Given the description of an element on the screen output the (x, y) to click on. 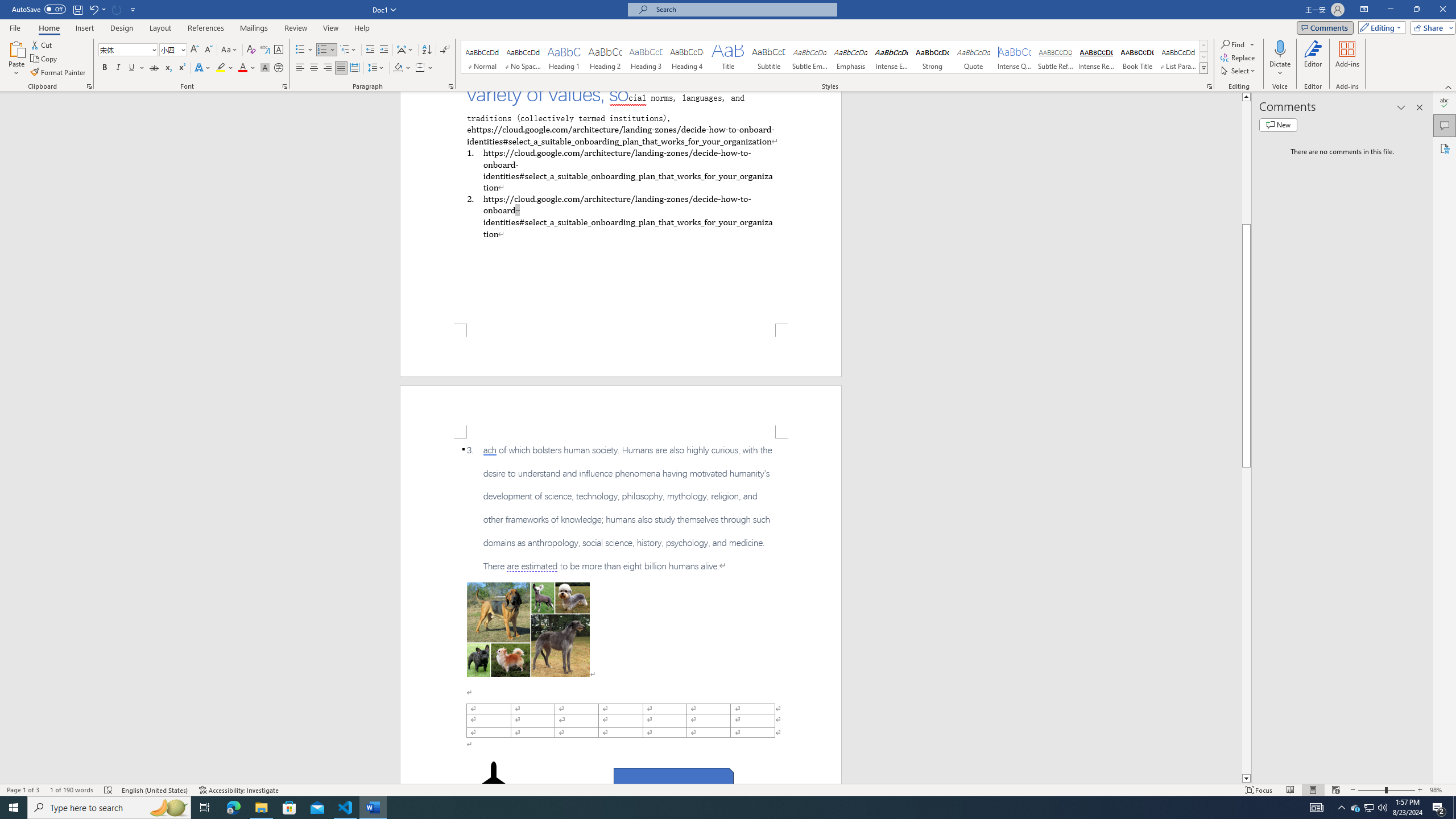
Quote (973, 56)
Accessibility (1444, 147)
Clear Formatting (250, 49)
1. (620, 169)
Cut (42, 44)
Align Left (300, 67)
Styles... (1209, 85)
Row Down (1203, 56)
